Given the description of an element on the screen output the (x, y) to click on. 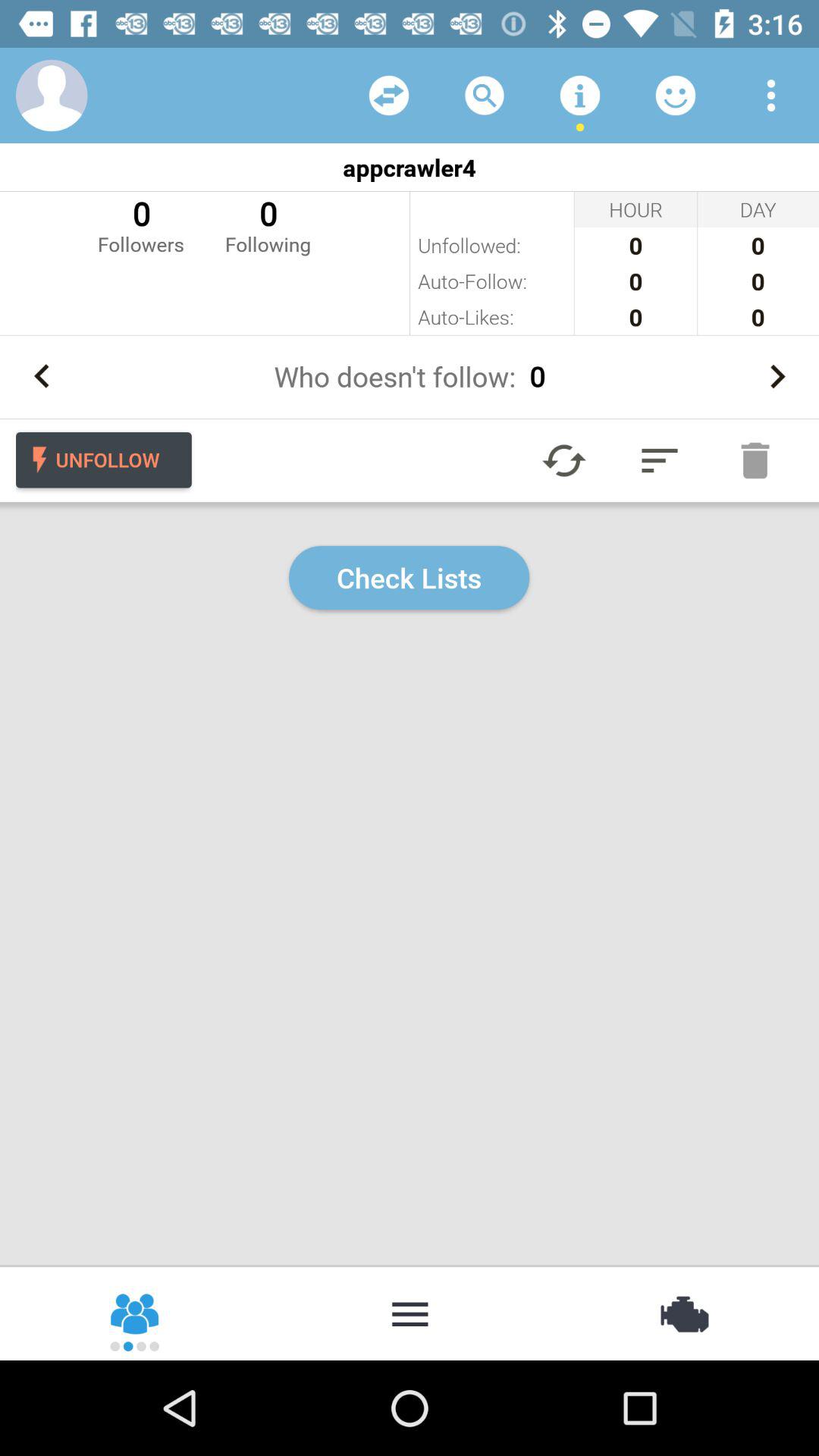
refresh the page (563, 460)
